Given the description of an element on the screen output the (x, y) to click on. 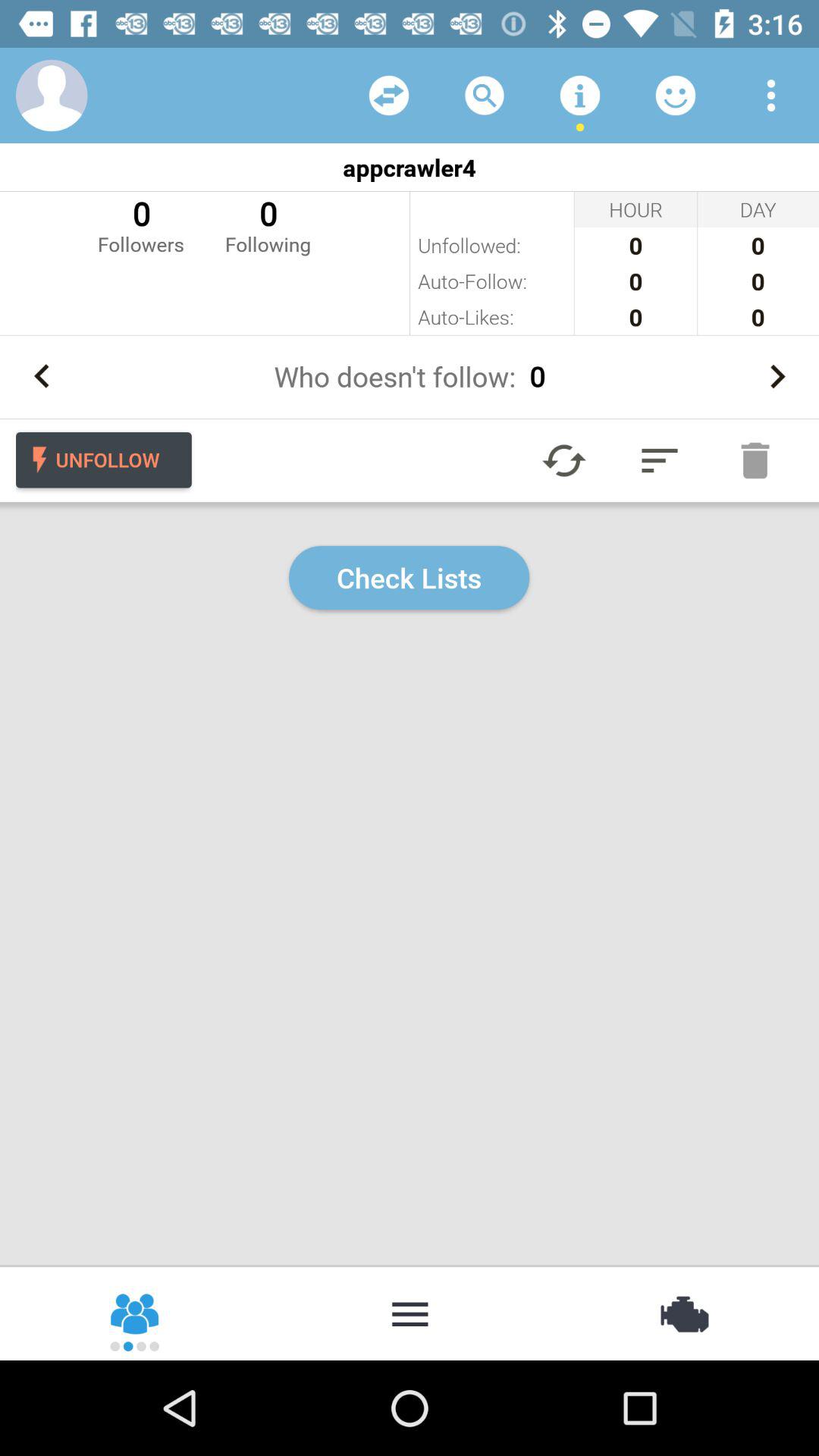
refresh the page (563, 460)
